Given the description of an element on the screen output the (x, y) to click on. 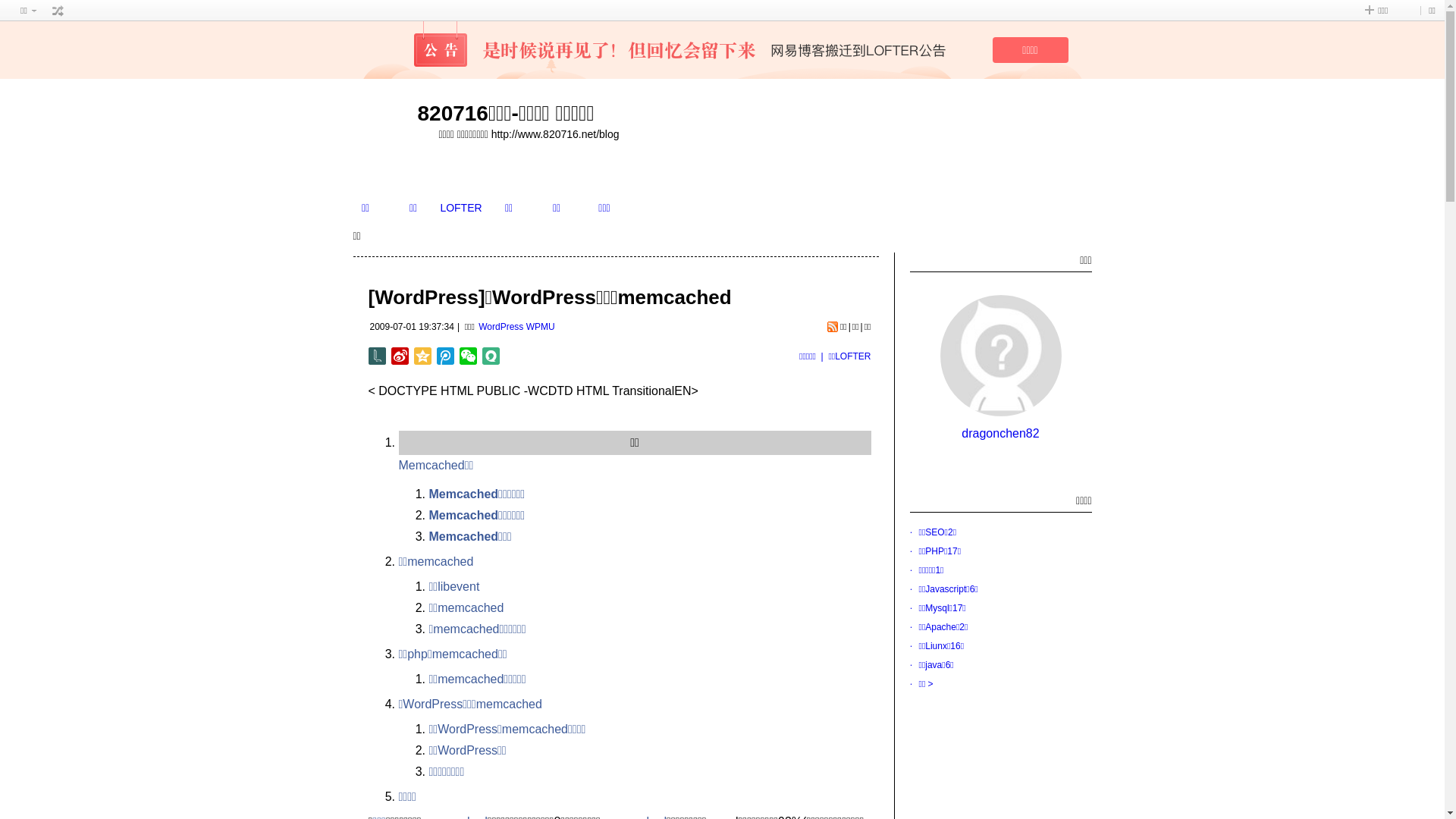
LOFTER Element type: text (460, 207)
dragonchen82 Element type: text (999, 432)
WordPress WPMU Element type: text (516, 326)
  Element type: text (58, 10)
